Given the description of an element on the screen output the (x, y) to click on. 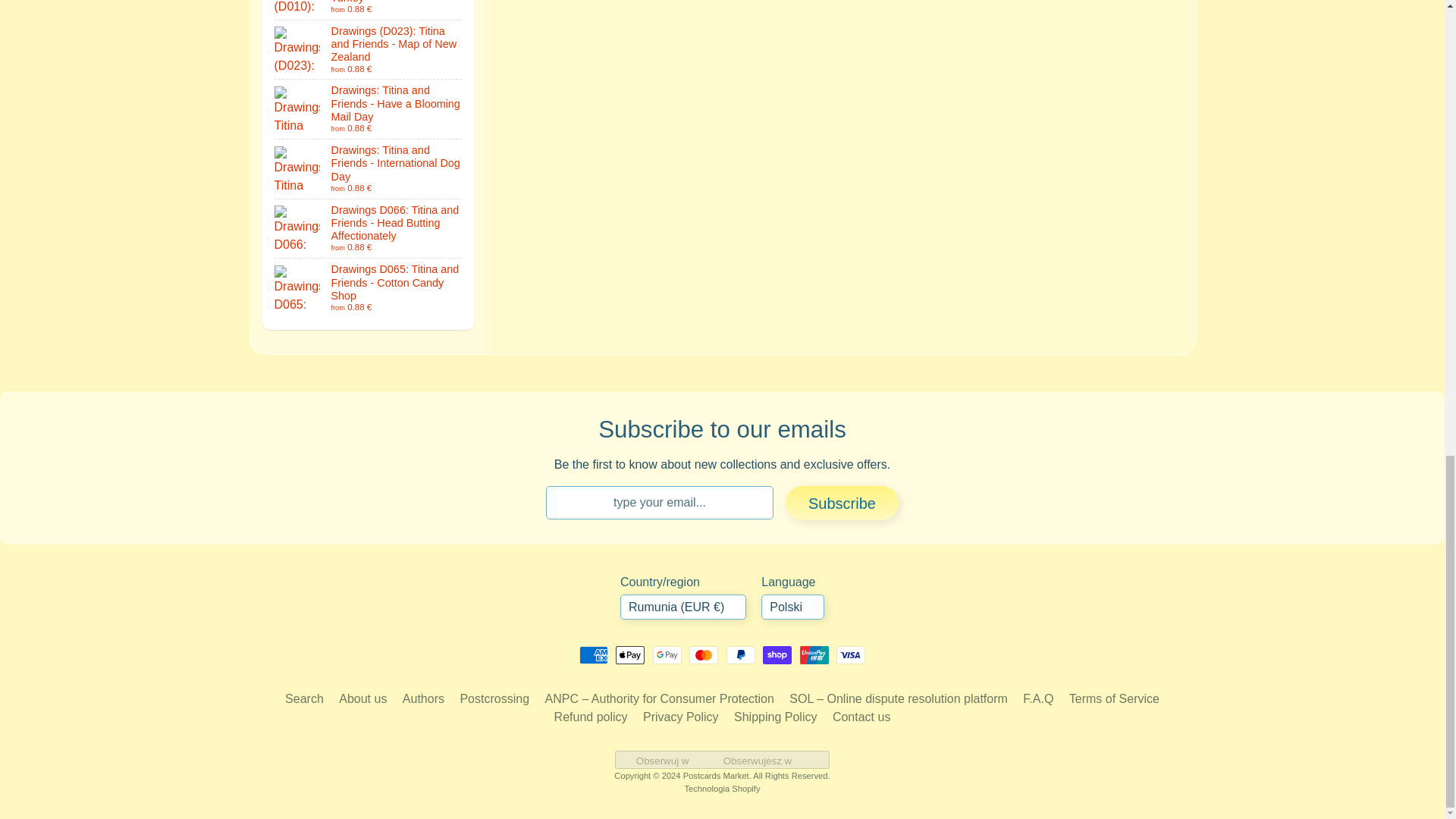
Shop Pay (777, 655)
American Express (593, 655)
Drawings: Titina and Friends - International Dog Day (369, 169)
Google Pay (666, 655)
Mastercard (702, 655)
Visa (849, 655)
Drawings D065: Titina and Friends - Cotton Candy Shop (369, 287)
Apple Pay (630, 655)
PayPal (740, 655)
